Given the description of an element on the screen output the (x, y) to click on. 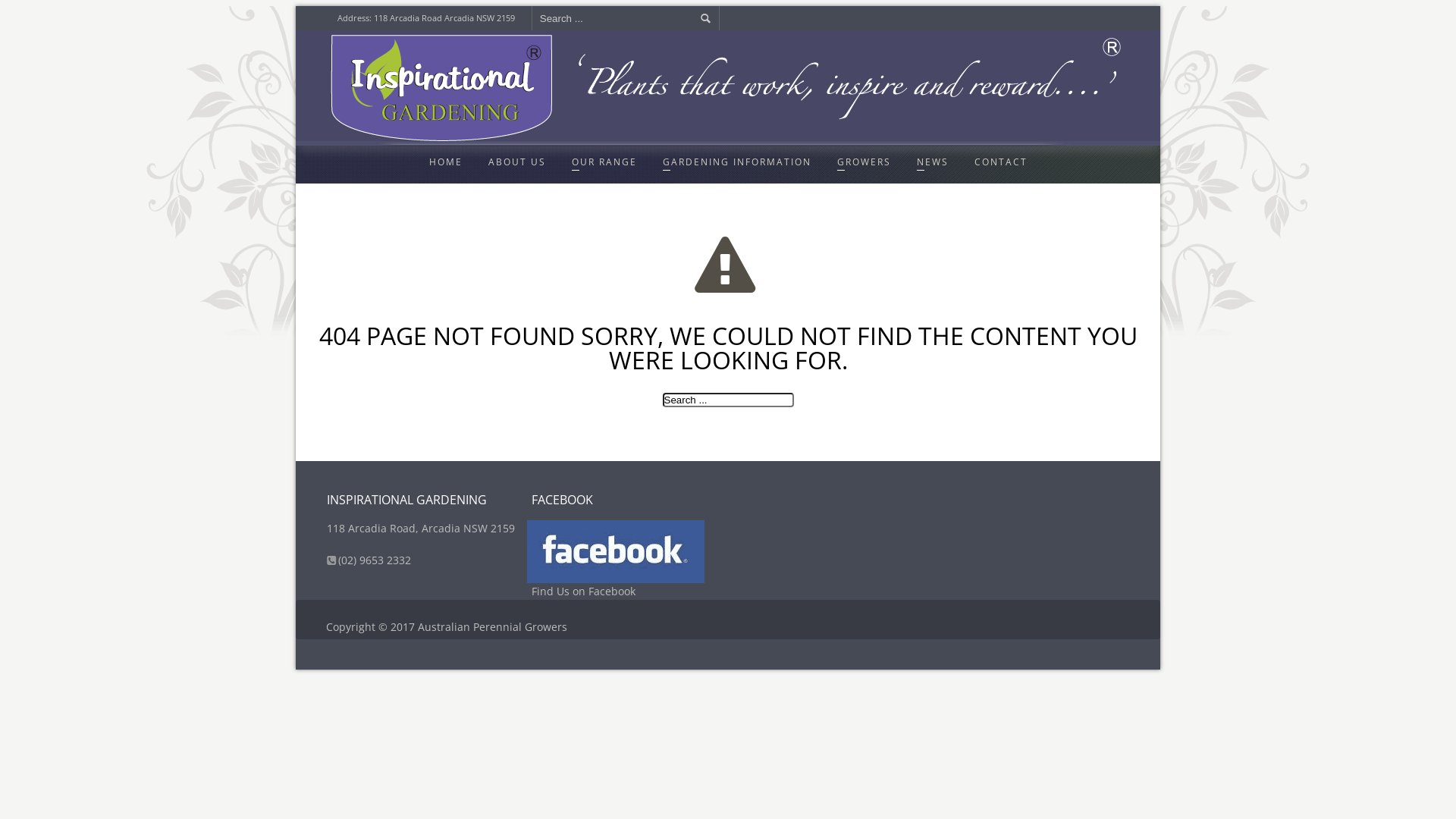
CONTACT Element type: text (1000, 162)
ABOUT US Element type: text (516, 162)
HOME Element type: text (445, 162)
